Given the description of an element on the screen output the (x, y) to click on. 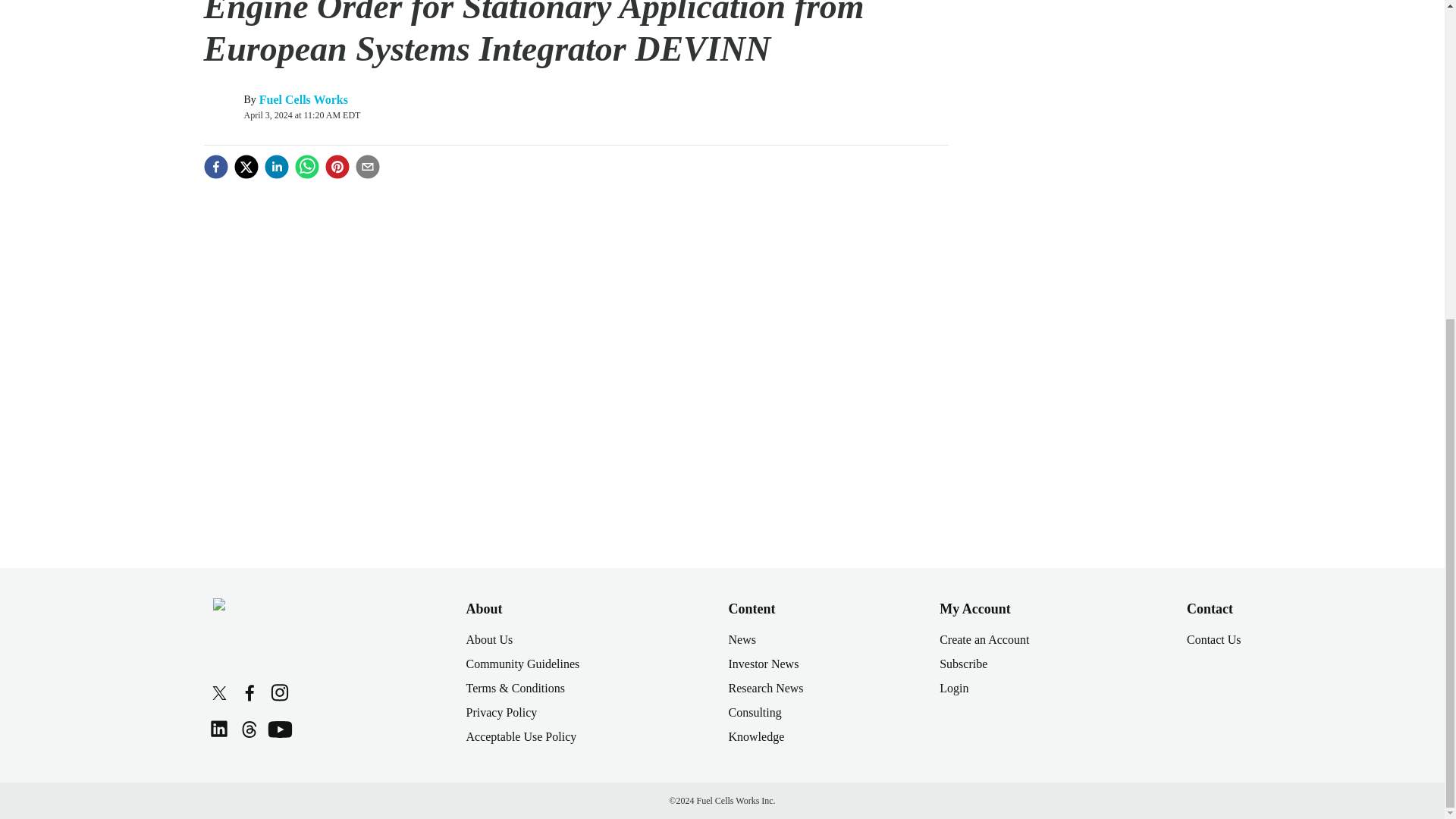
News (741, 639)
Privacy Policy (501, 712)
Create an Account (984, 639)
Community Guidelines (522, 663)
Acceptable Use Policy (520, 736)
Knowledge (756, 736)
Consulting (754, 712)
Research News (765, 687)
About Us (488, 639)
Investor News (762, 663)
